Given the description of an element on the screen output the (x, y) to click on. 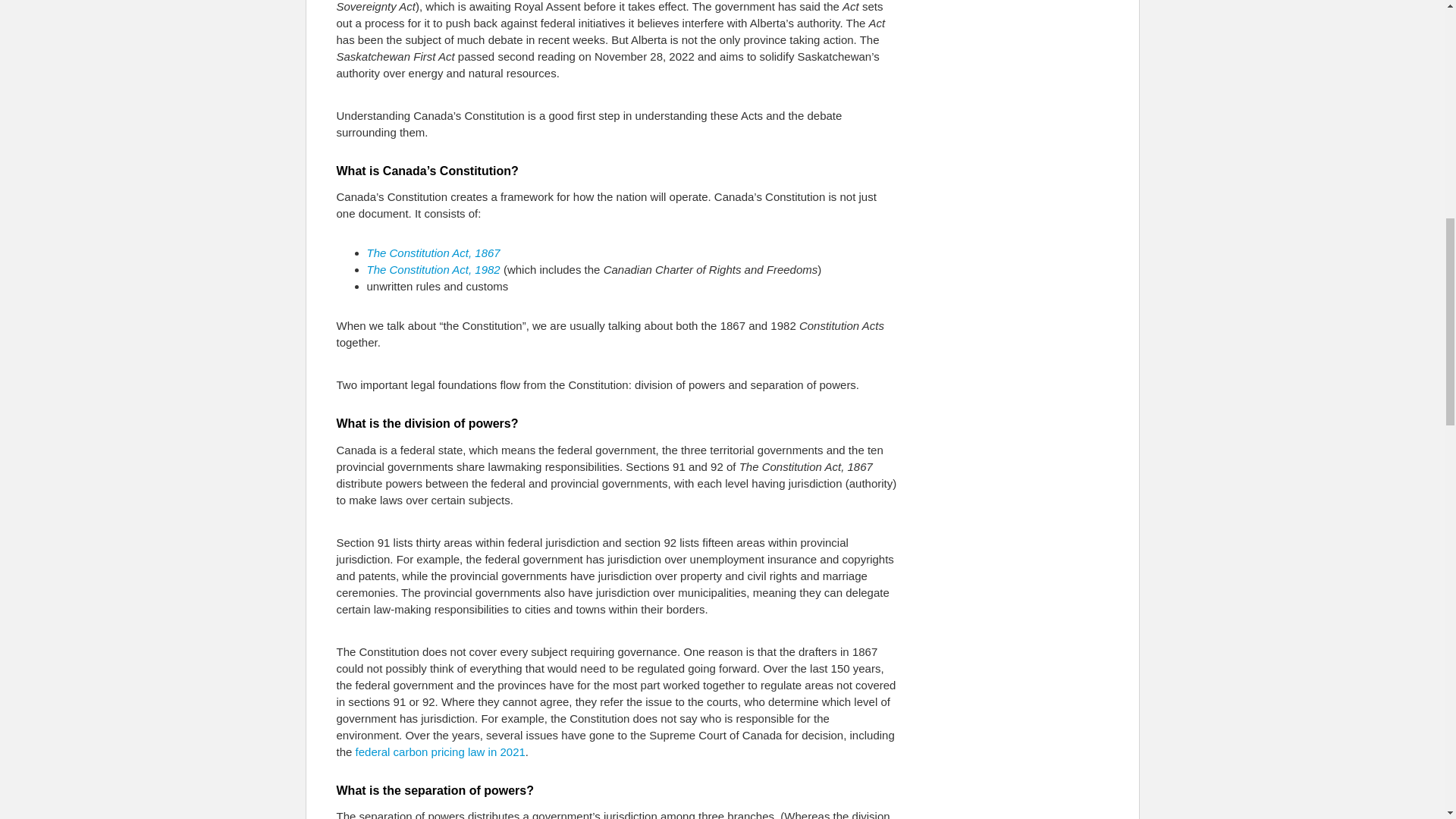
The Constitution Act, 1867 (433, 252)
federal carbon pricing law in 2021 (440, 751)
The Constitution Act, 1982 (433, 269)
